Given the description of an element on the screen output the (x, y) to click on. 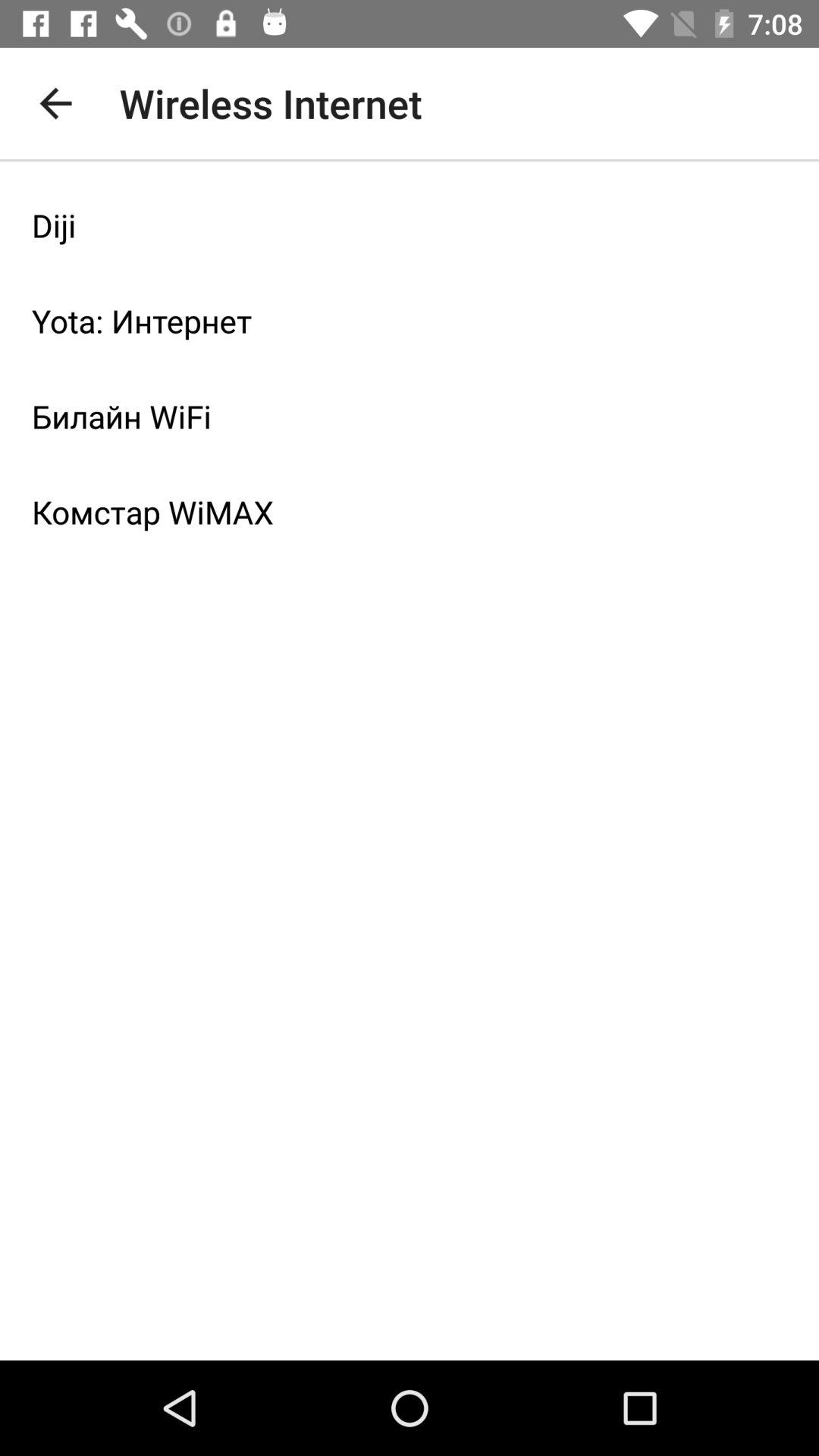
tap the diji icon (409, 225)
